Given the description of an element on the screen output the (x, y) to click on. 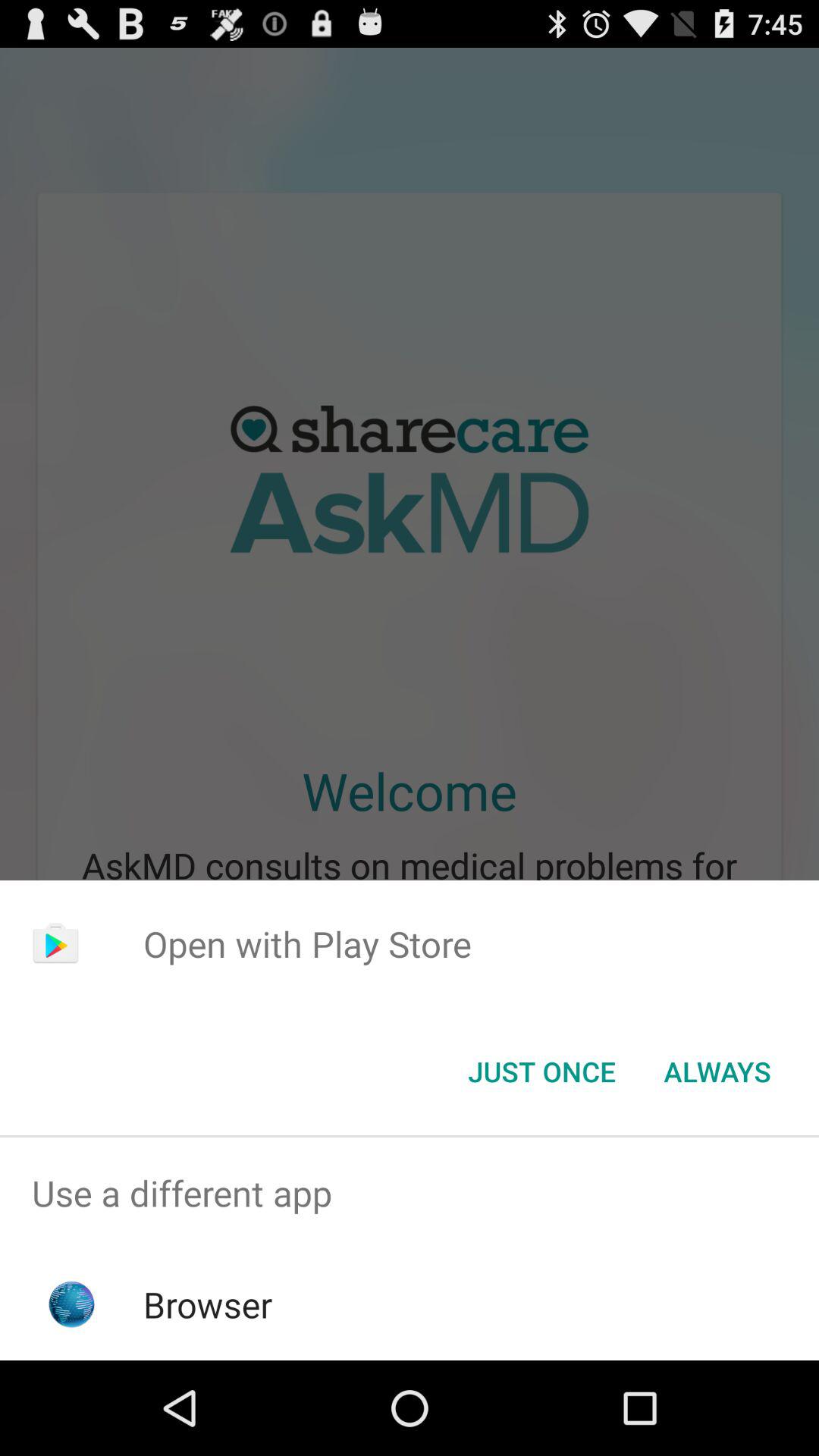
open the app below open with play app (717, 1071)
